Given the description of an element on the screen output the (x, y) to click on. 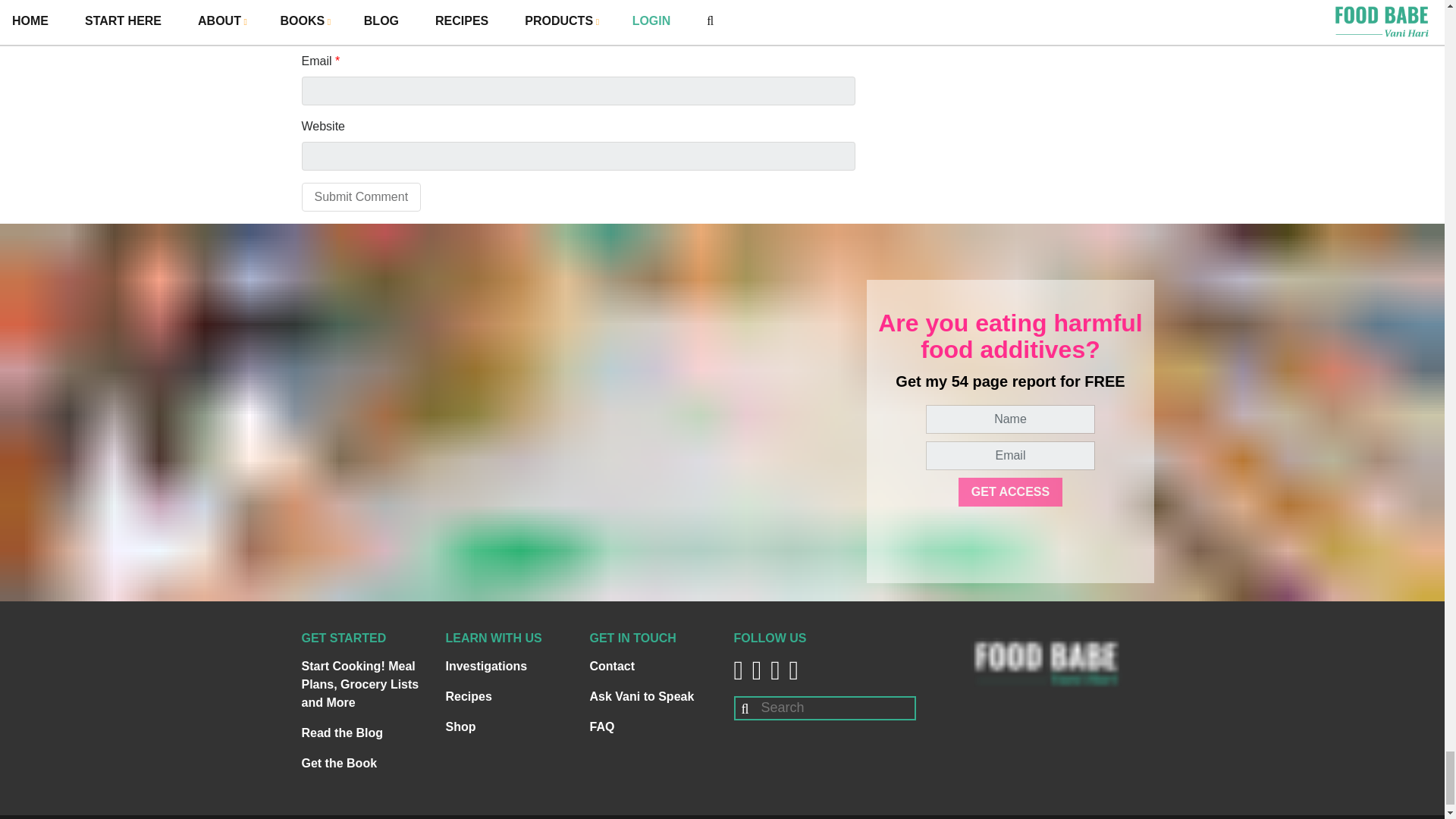
Submit Comment (361, 196)
